Given the description of an element on the screen output the (x, y) to click on. 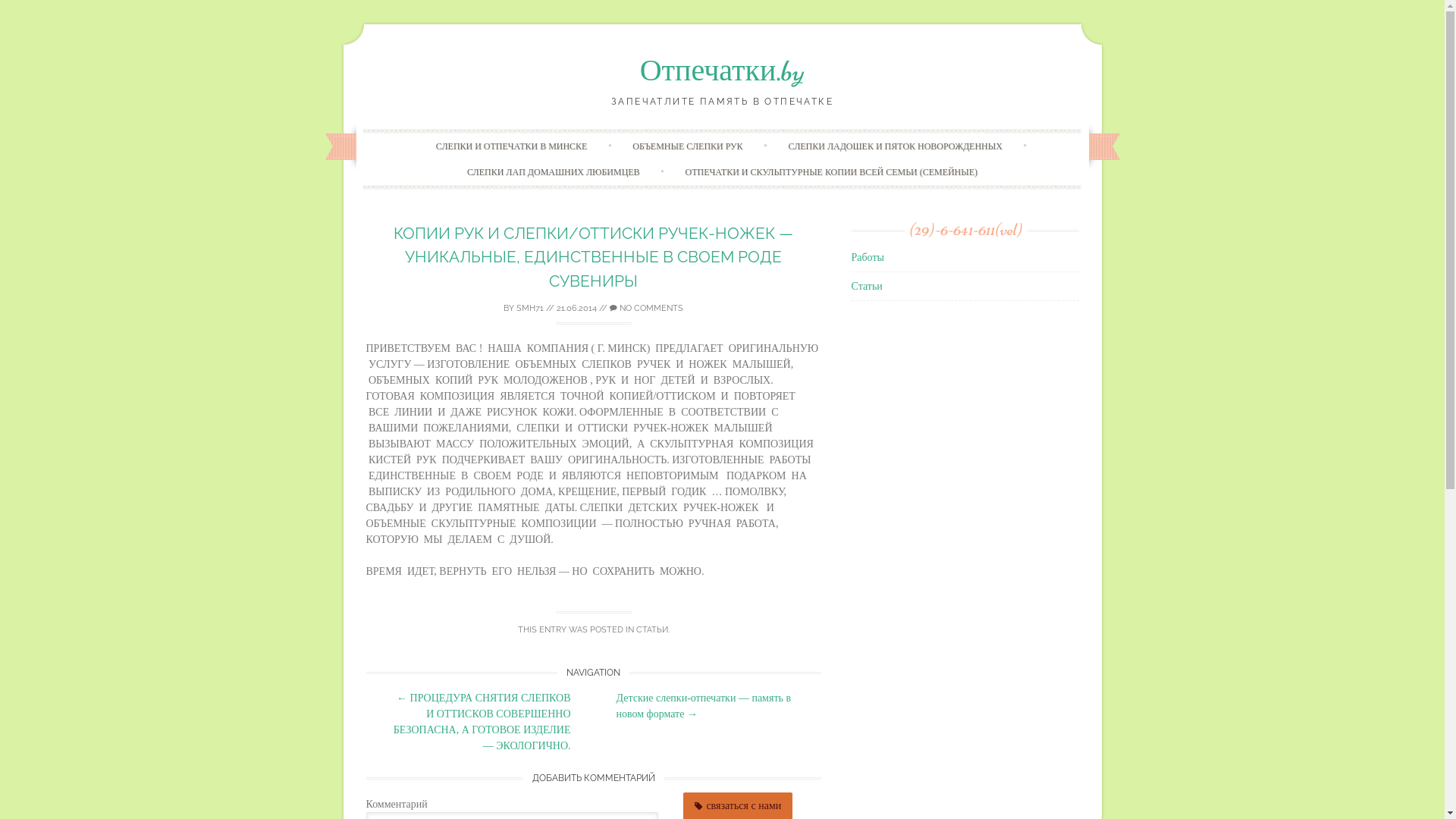
21.06.2014 Element type: text (576, 308)
Skip to content Element type: text (753, 136)
SMH71 Element type: text (529, 308)
NO COMMENTS Element type: text (646, 308)
